Given the description of an element on the screen output the (x, y) to click on. 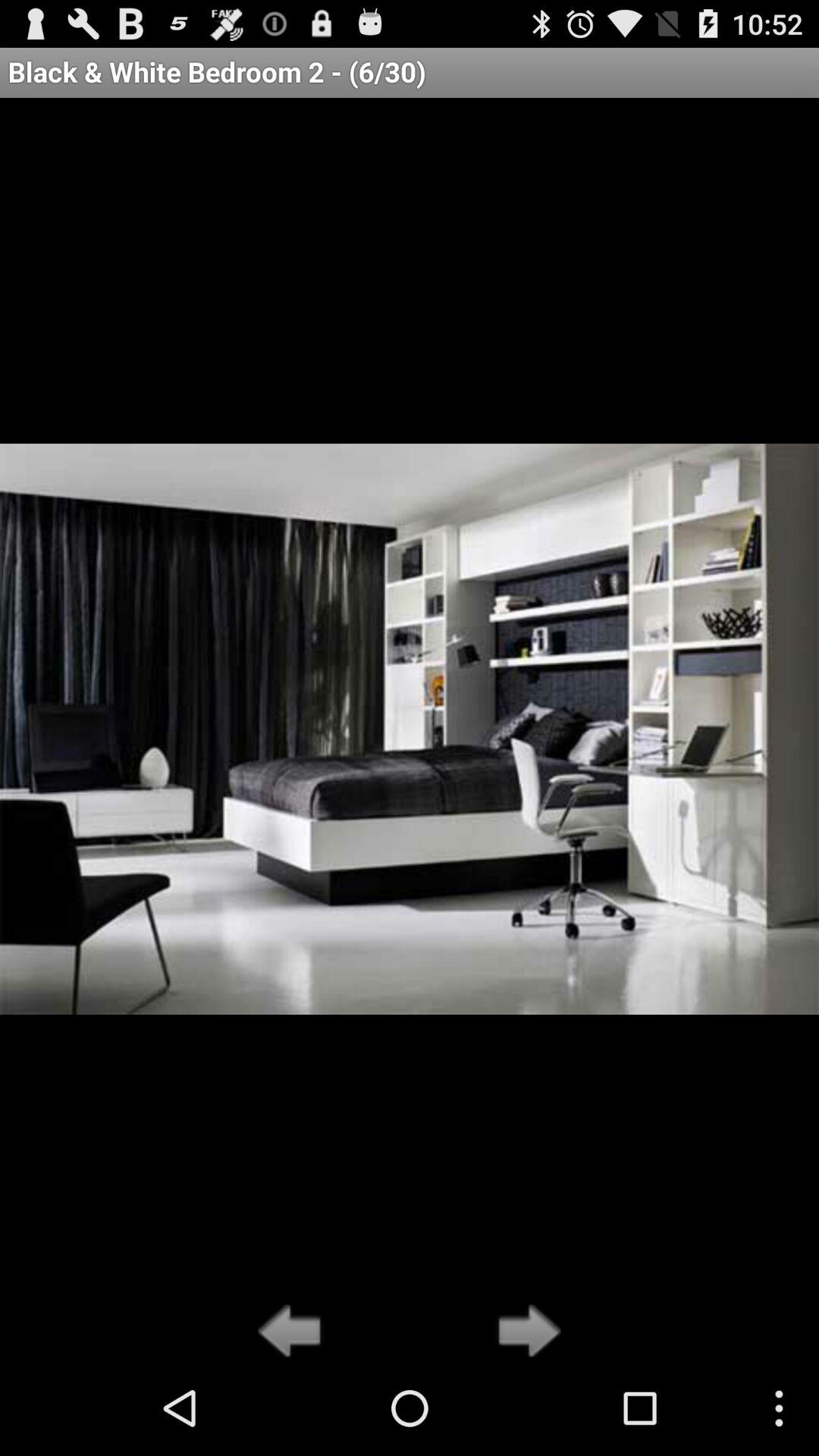
go to previous page (293, 1332)
